Given the description of an element on the screen output the (x, y) to click on. 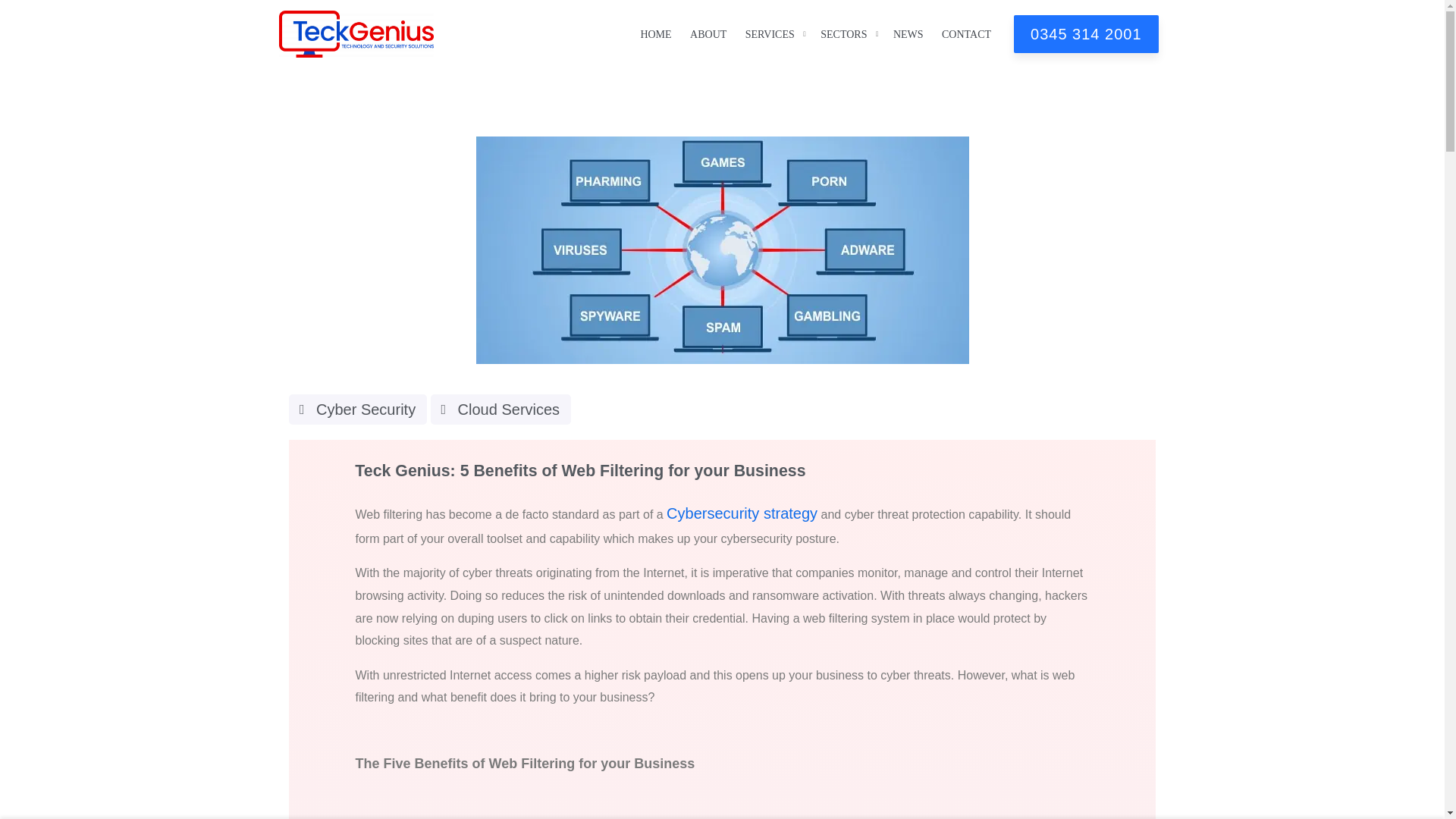
ABOUT (708, 34)
SECTORS (843, 34)
5 Benefits of Web Filtering for your Business 1 (722, 249)
NEWS (908, 34)
SERVICES (769, 34)
0345 314 2001 (1085, 34)
CONTACT (966, 34)
HOME (655, 34)
